Given the description of an element on the screen output the (x, y) to click on. 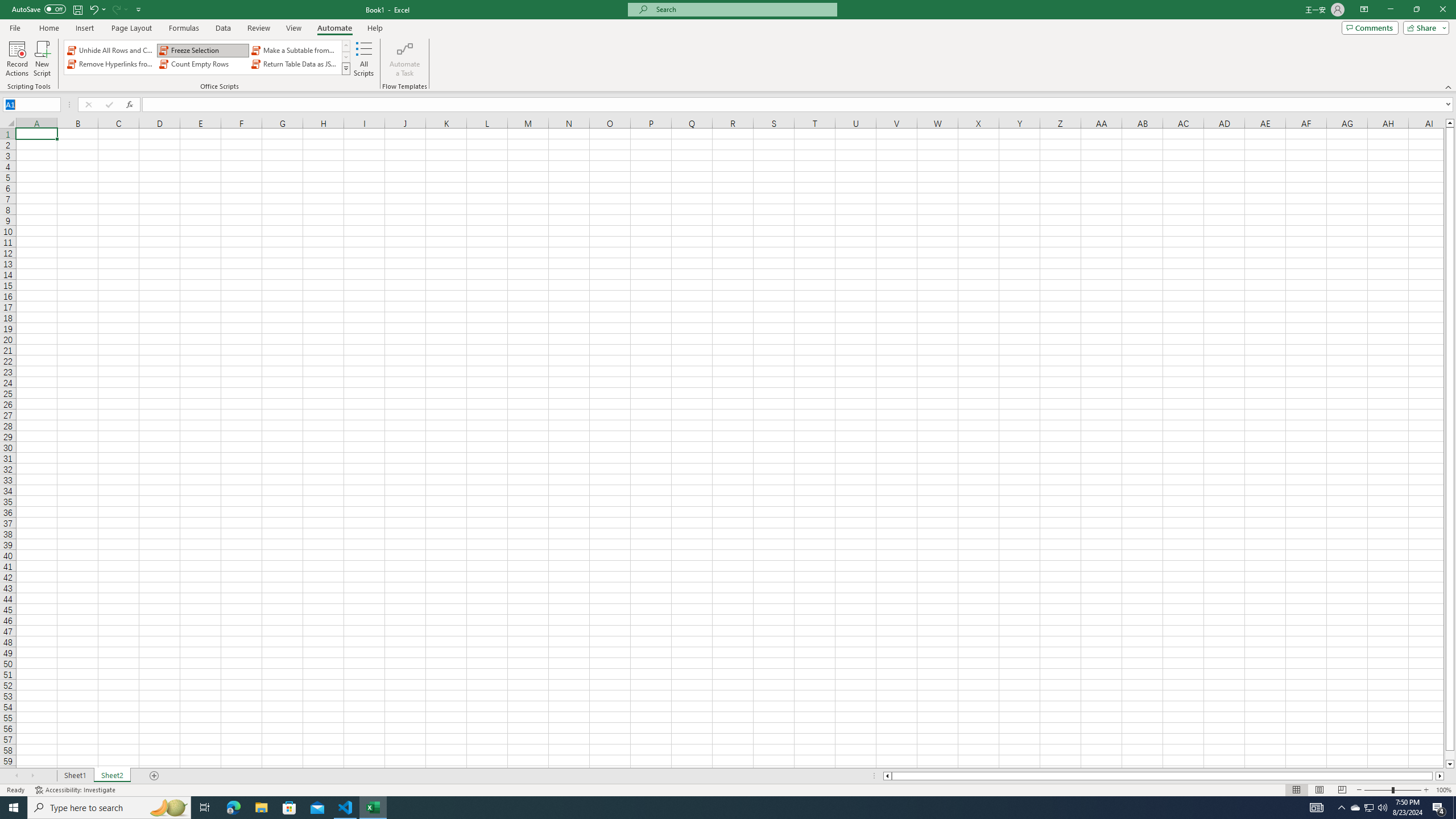
Sheet2 (112, 775)
